Given the description of an element on the screen output the (x, y) to click on. 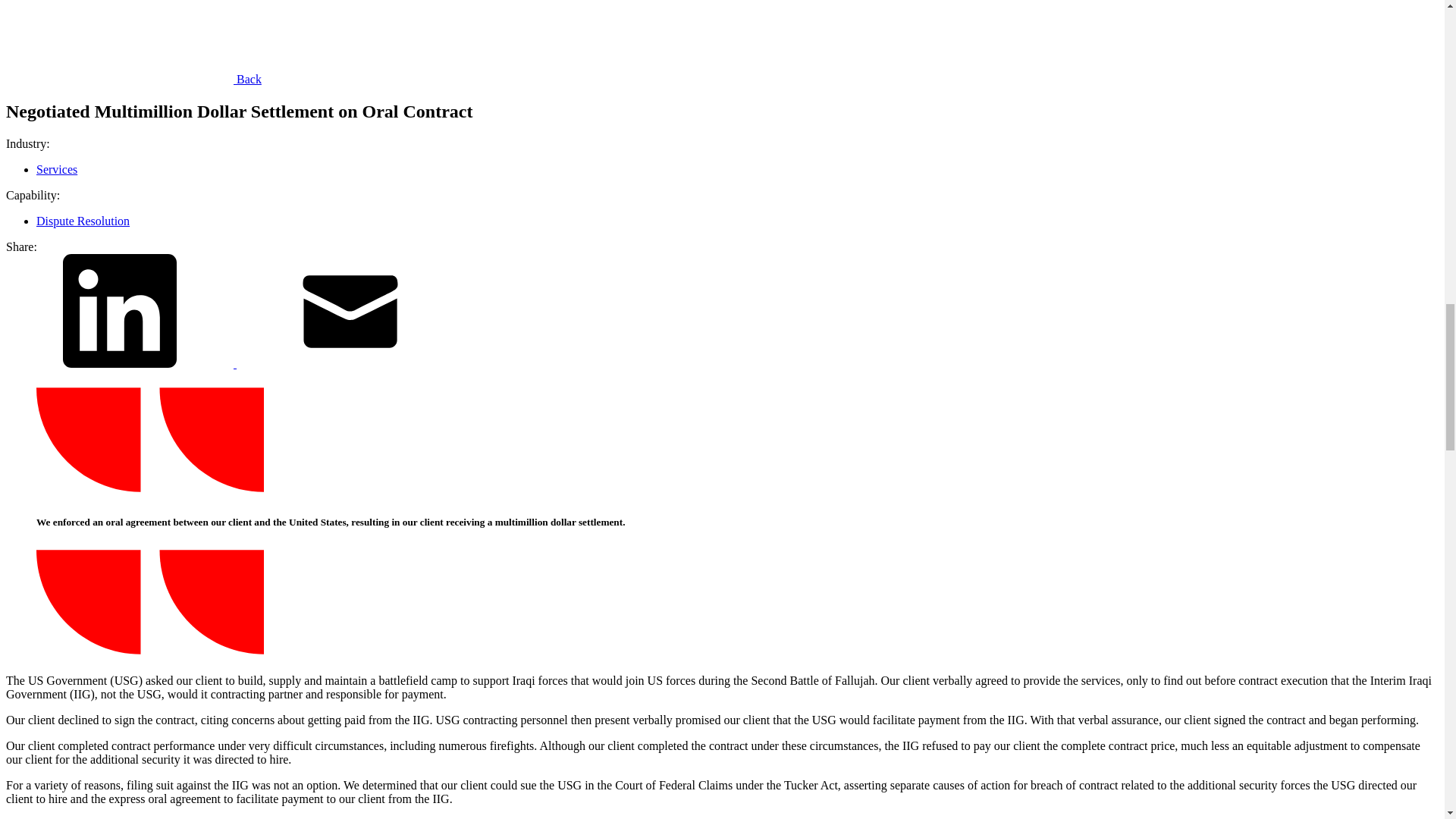
Services (56, 169)
Back (133, 78)
Dispute Resolution (82, 220)
